Given the description of an element on the screen output the (x, y) to click on. 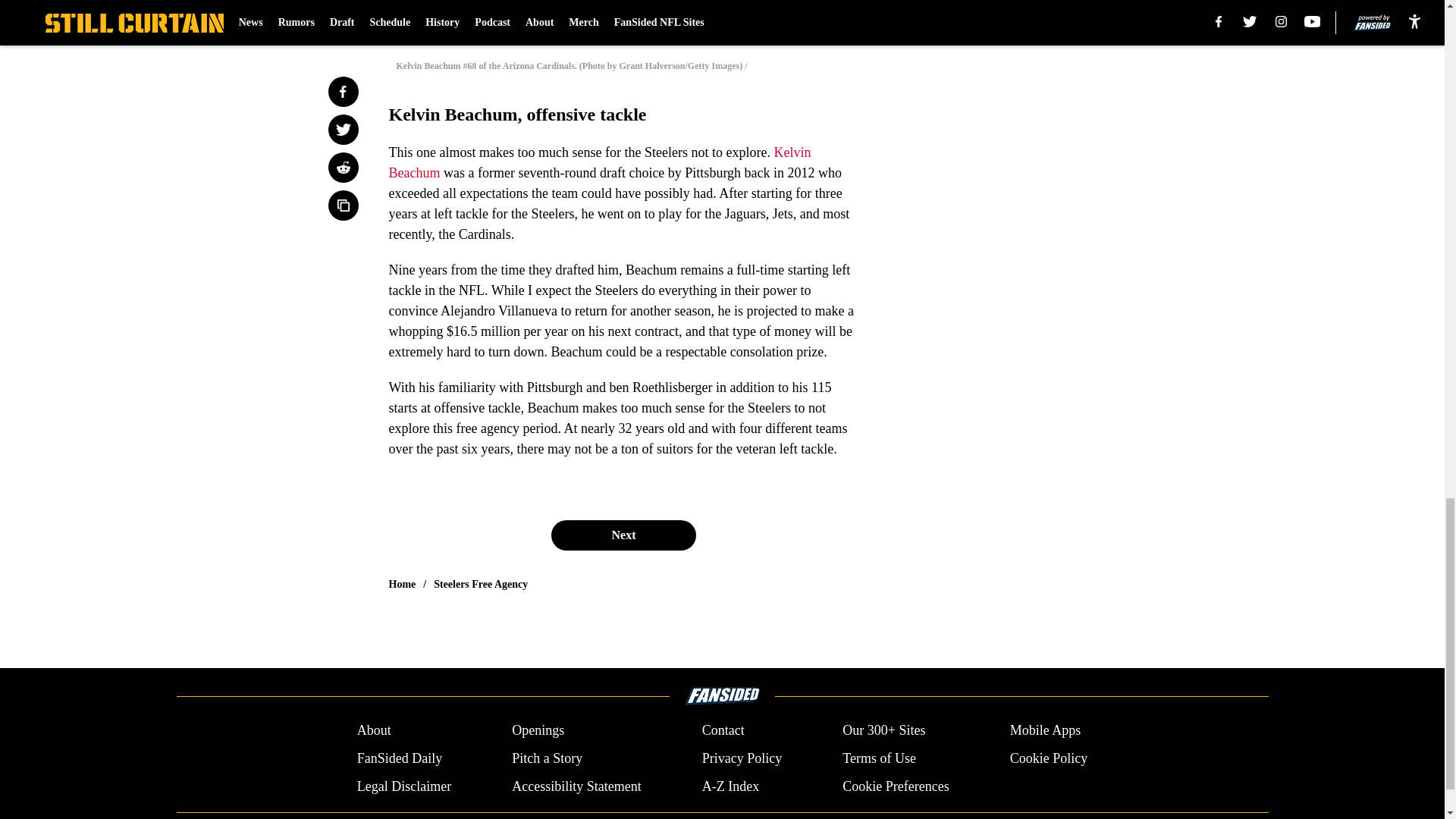
FanSided Daily (399, 758)
Next (622, 535)
Home (401, 584)
Mobile Apps (1045, 730)
Kelvin Beachum (599, 162)
Contact (722, 730)
About (373, 730)
Openings (538, 730)
Steelers Free Agency (480, 584)
